Given the description of an element on the screen output the (x, y) to click on. 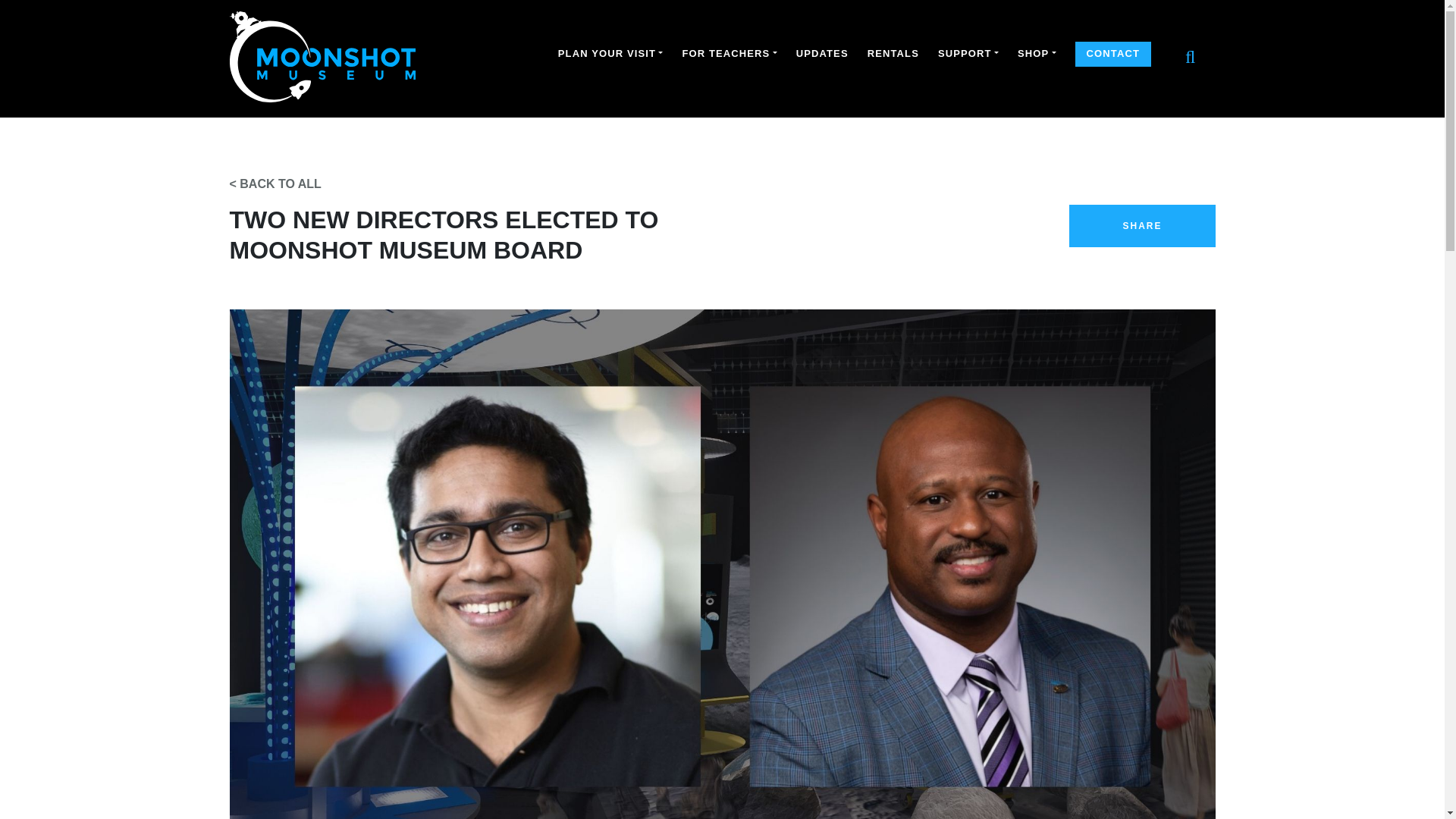
Rentals (892, 53)
FOR TEACHERS (728, 53)
SHOP (1037, 53)
Support (967, 53)
RENTALS (892, 53)
UPDATES (822, 53)
Plan Your Visit (610, 53)
SUPPORT (967, 53)
CONTACT (1113, 53)
PLAN YOUR VISIT (610, 53)
For Teachers (728, 53)
Updates (822, 53)
